Given the description of an element on the screen output the (x, y) to click on. 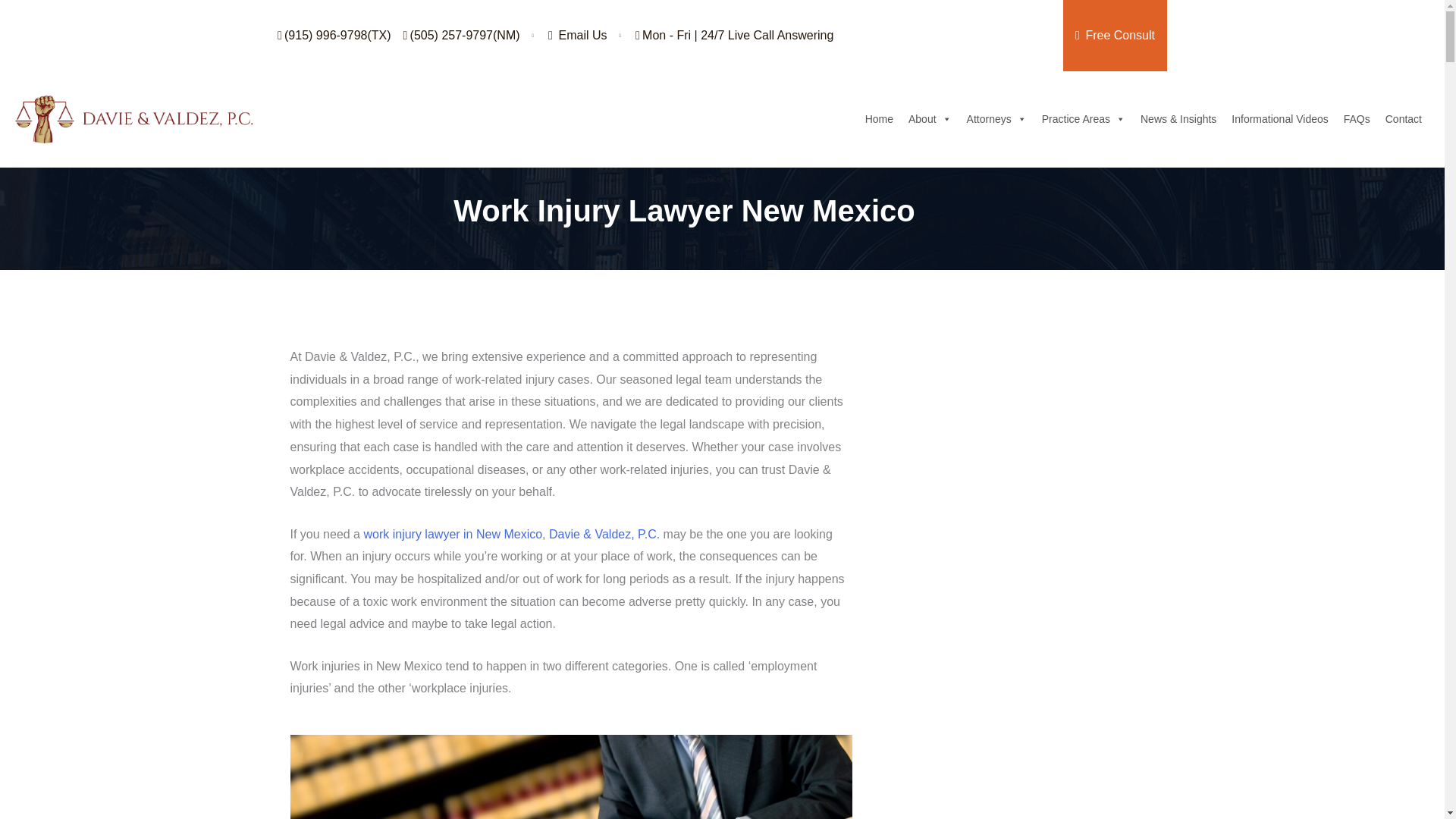
About (930, 119)
Email Us (577, 35)
Free Consult (1114, 35)
Home (879, 119)
Attorneys (996, 119)
Practice Areas (1082, 119)
